Given the description of an element on the screen output the (x, y) to click on. 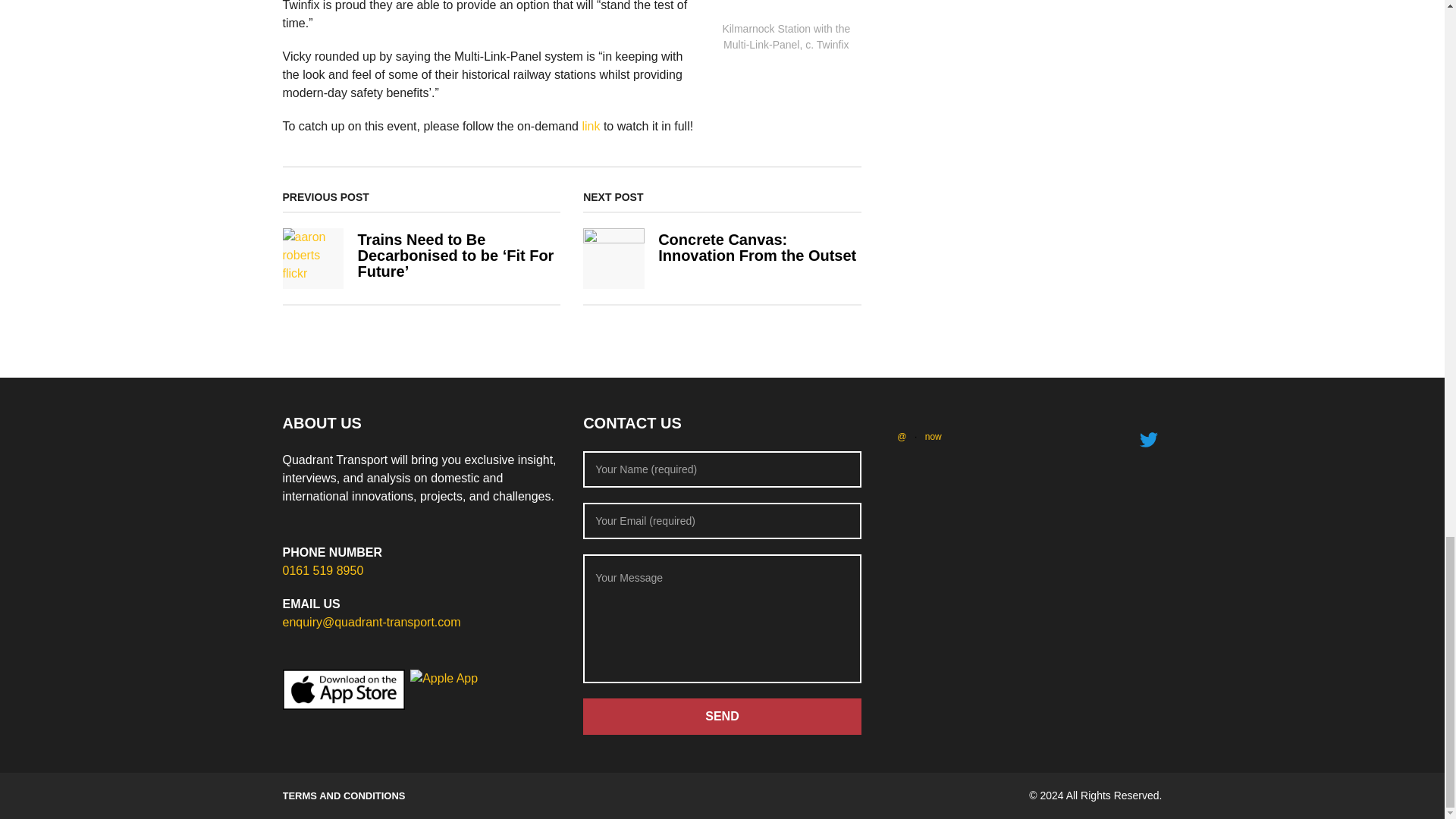
Concrete Canvas: Innovation From the Outset (757, 246)
Send (722, 716)
link (589, 125)
